Given the description of an element on the screen output the (x, y) to click on. 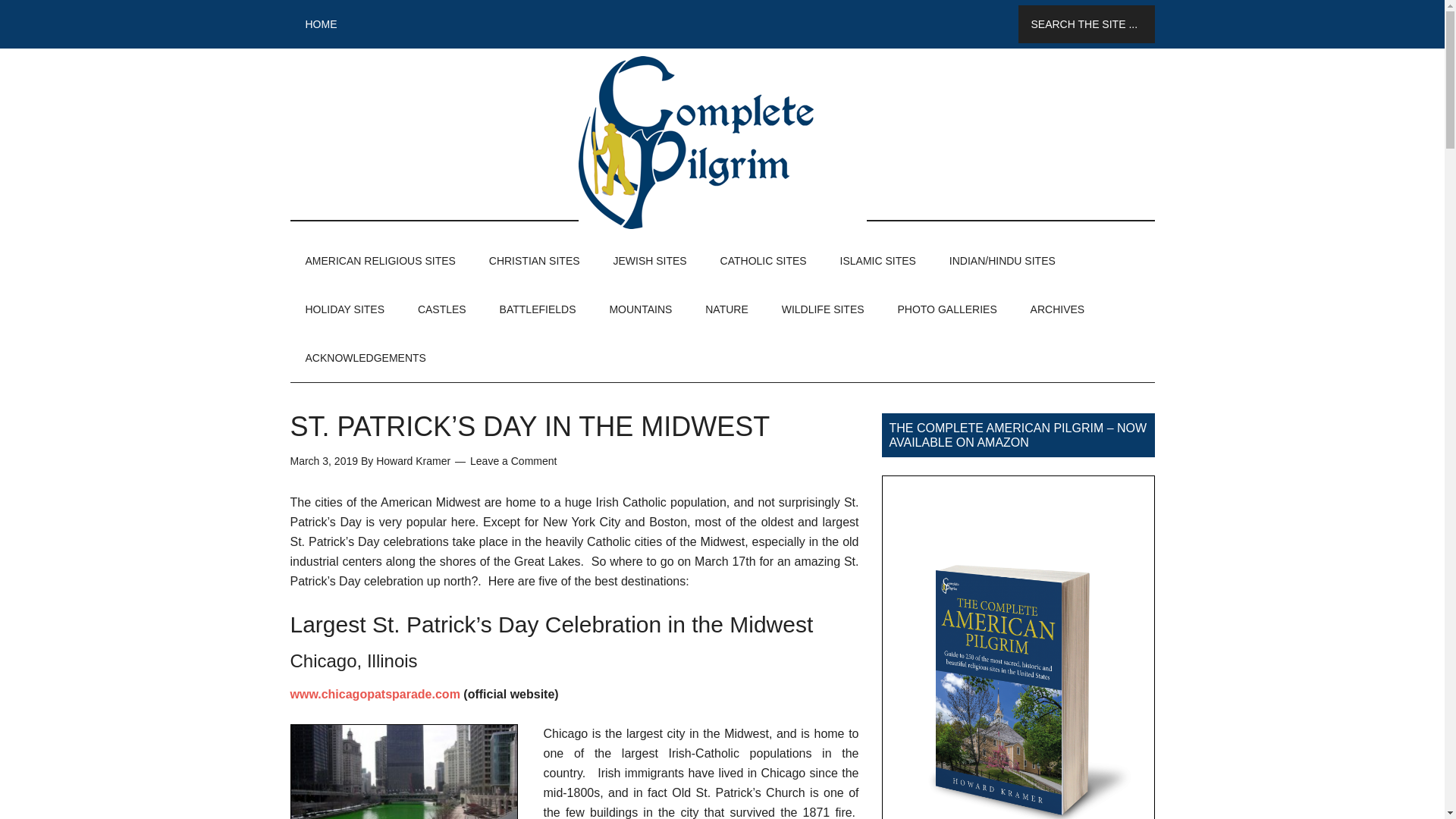
PHOTO GALLERIES (946, 309)
HOLIDAY SITES (343, 309)
Howard Kramer (412, 460)
ACKNOWLEDGEMENTS (365, 357)
JEWISH SITES (648, 260)
Leave a Comment (513, 460)
WILDLIFE SITES (823, 309)
